Given the description of an element on the screen output the (x, y) to click on. 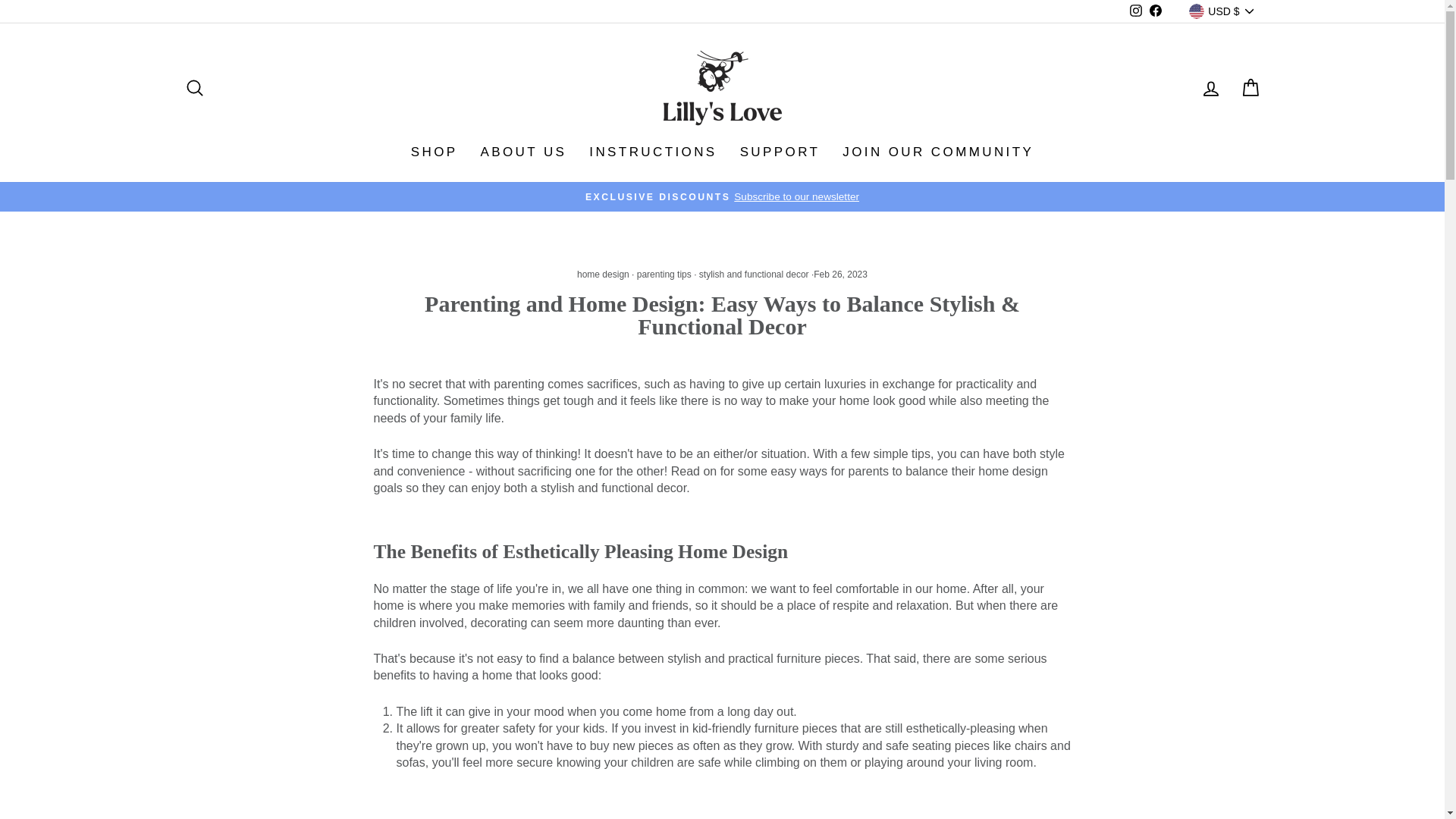
LOG IN (1210, 88)
SHOP (433, 152)
Facebook (1155, 11)
SEARCH (194, 88)
CART (1249, 88)
Lilly's Love Store on Instagram (1135, 11)
SUPPORT (780, 152)
Instagram (1135, 11)
INSTRUCTIONS (653, 152)
Lilly's Love Store on Facebook (1155, 11)
ABOUT US (523, 152)
